Given the description of an element on the screen output the (x, y) to click on. 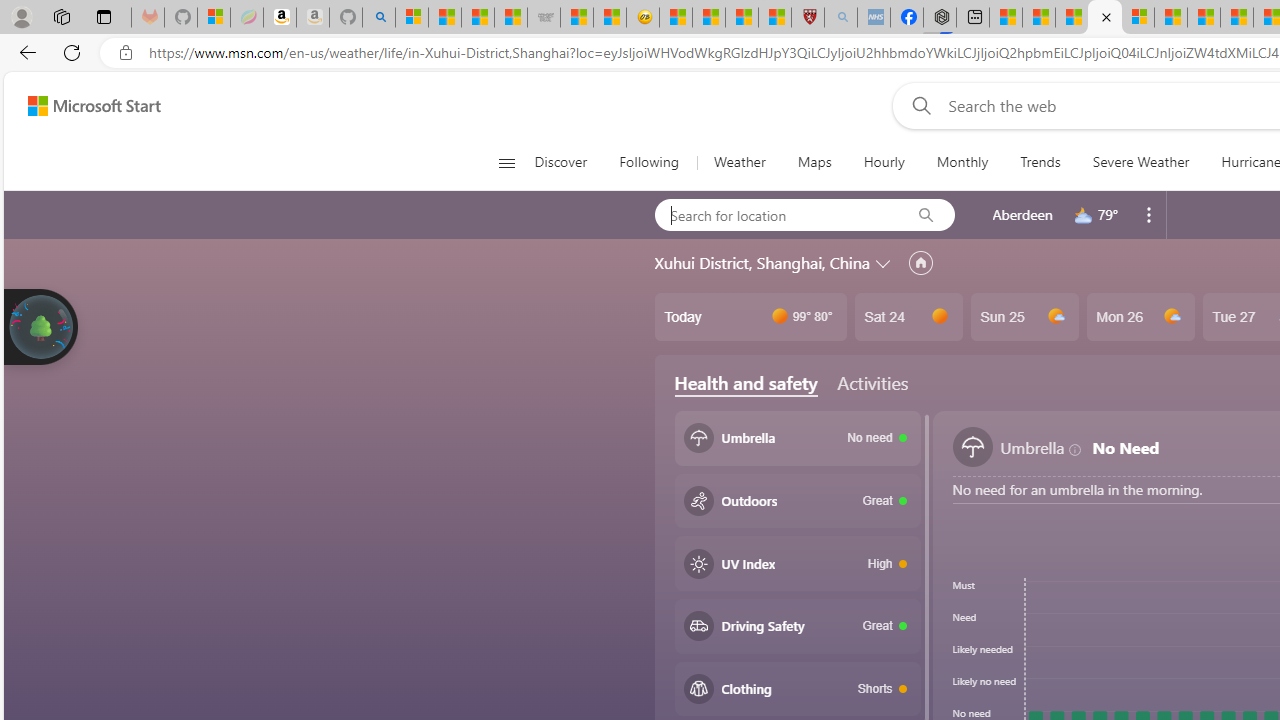
Umbrella No need (797, 438)
Sun 25 (1024, 317)
